Given the description of an element on the screen output the (x, y) to click on. 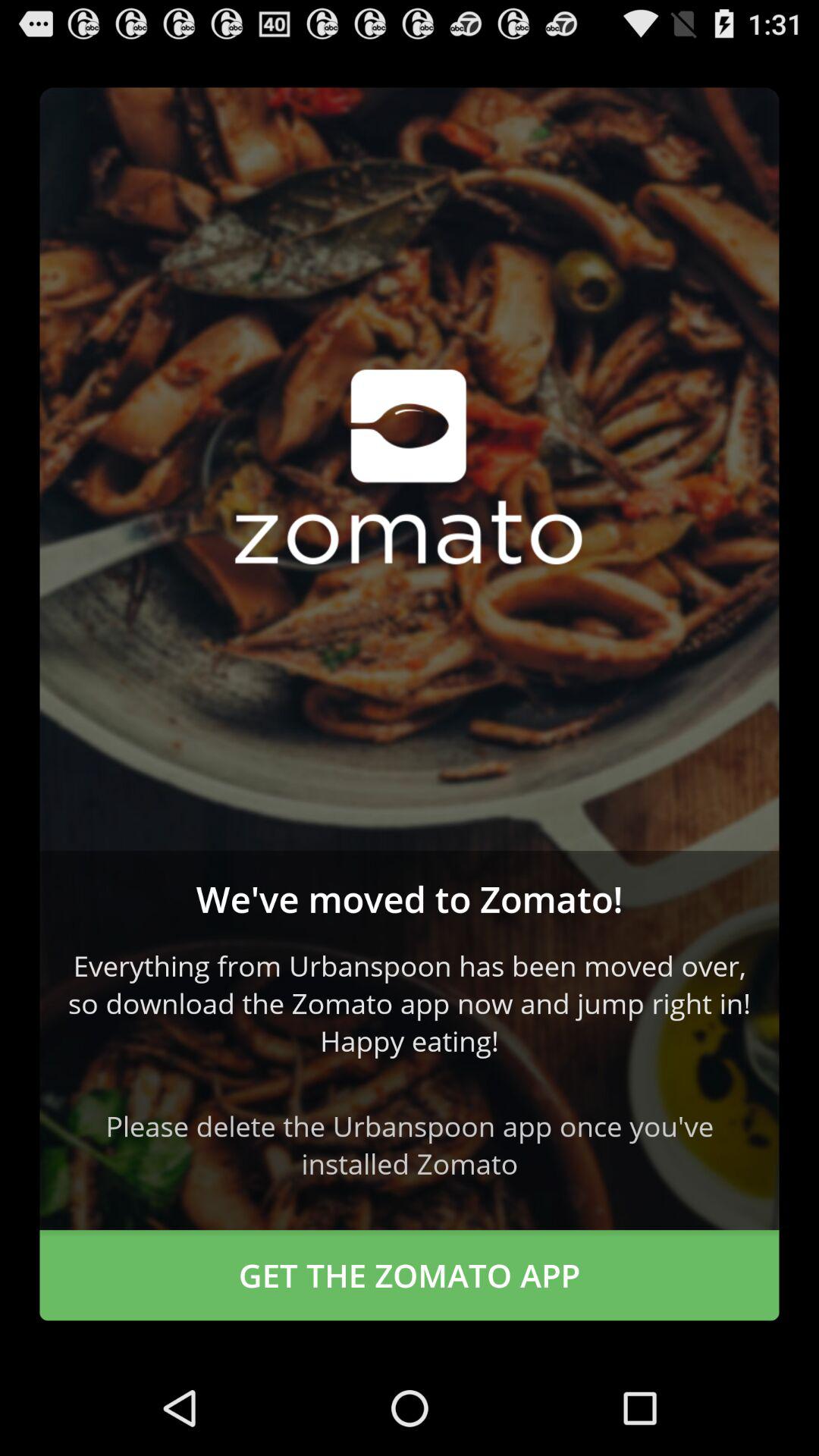
click the item at the top (409, 468)
